Given the description of an element on the screen output the (x, y) to click on. 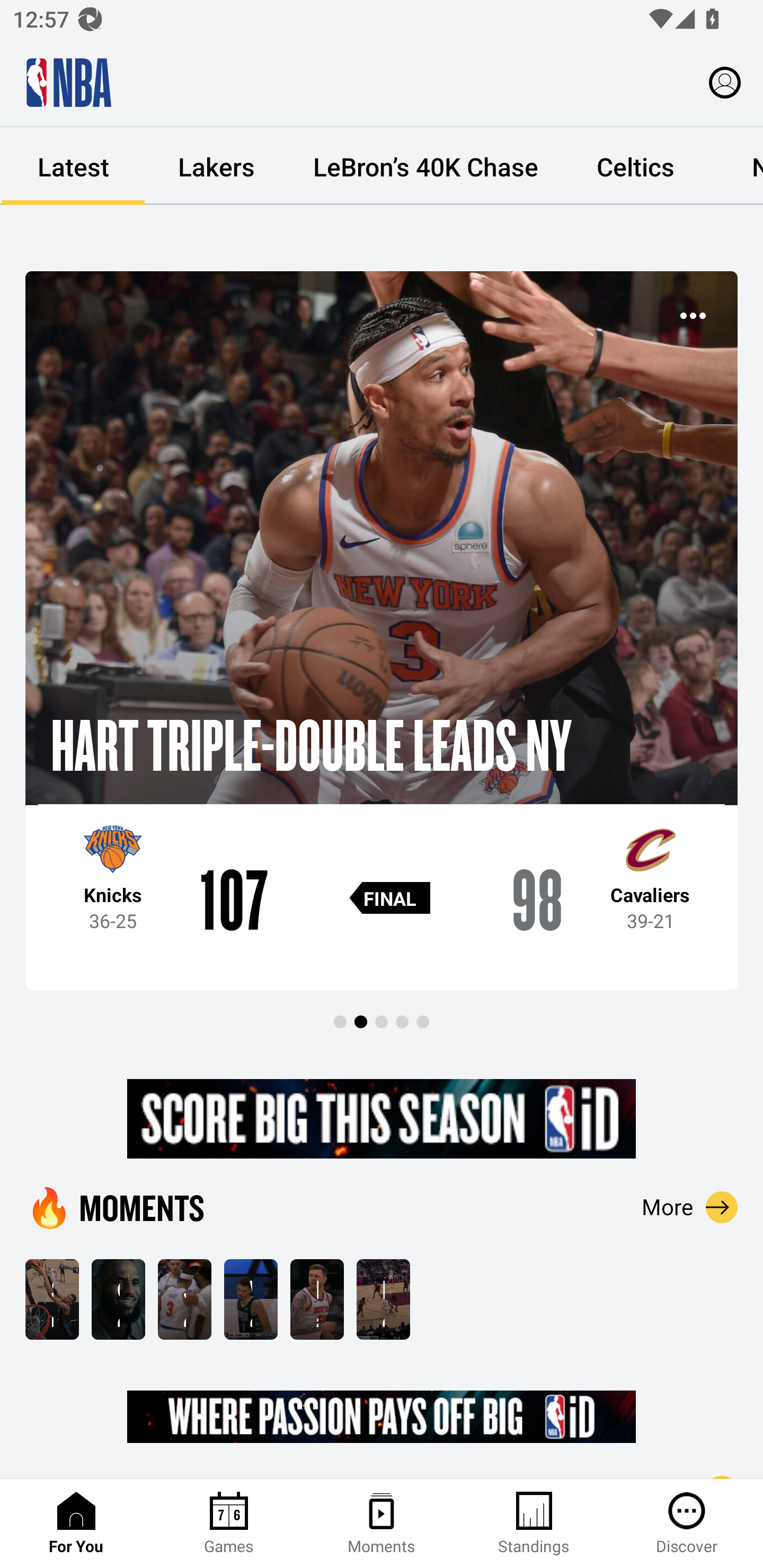
Profile (724, 81)
Lakers (215, 166)
LeBron’s 40K Chase (425, 166)
Celtics (634, 166)
More (689, 1207)
Sunday's Top Plays In 30 Seconds ⏱ (51, 1299)
Hartenstein Drops The Hammer 🔨 (317, 1299)
Games (228, 1523)
Moments (381, 1523)
Standings (533, 1523)
Discover (686, 1523)
